Given the description of an element on the screen output the (x, y) to click on. 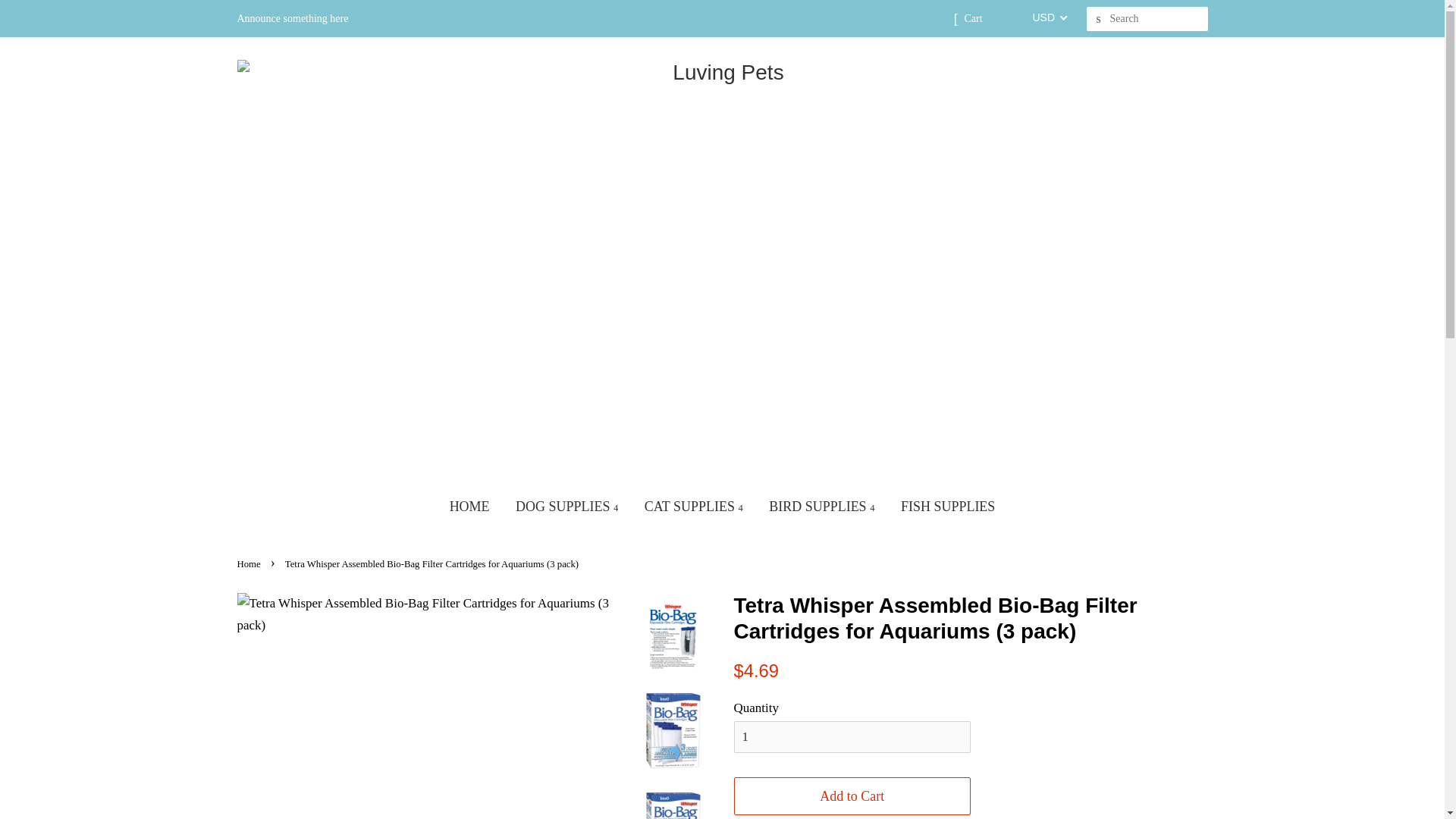
Search (1097, 18)
1 (852, 736)
Back to the frontpage (249, 563)
DOG SUPPLIES (565, 506)
Cart (972, 18)
CAT SUPPLIES (693, 506)
HOME (469, 506)
BIRD SUPPLIES (821, 506)
FISH SUPPLIES (947, 506)
